Given the description of an element on the screen output the (x, y) to click on. 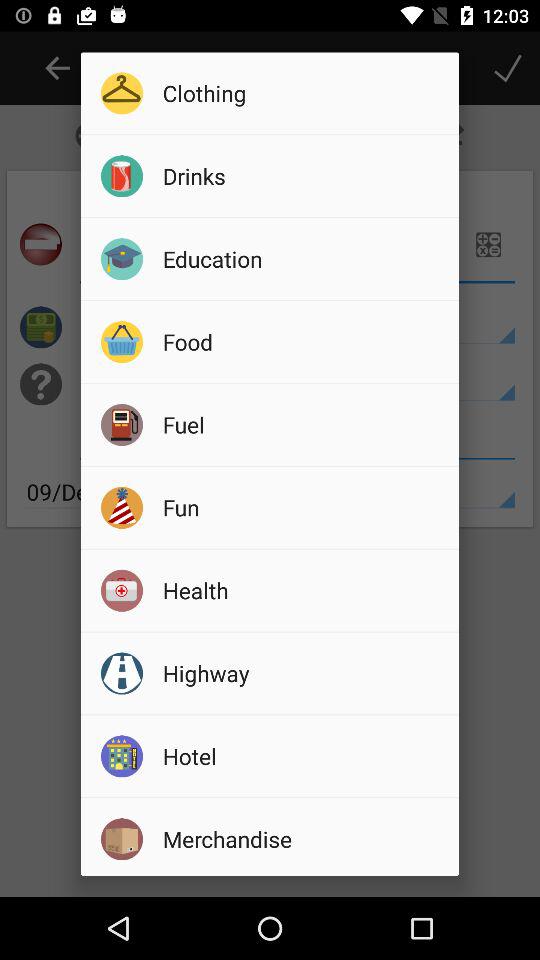
click icon below highway (303, 756)
